Given the description of an element on the screen output the (x, y) to click on. 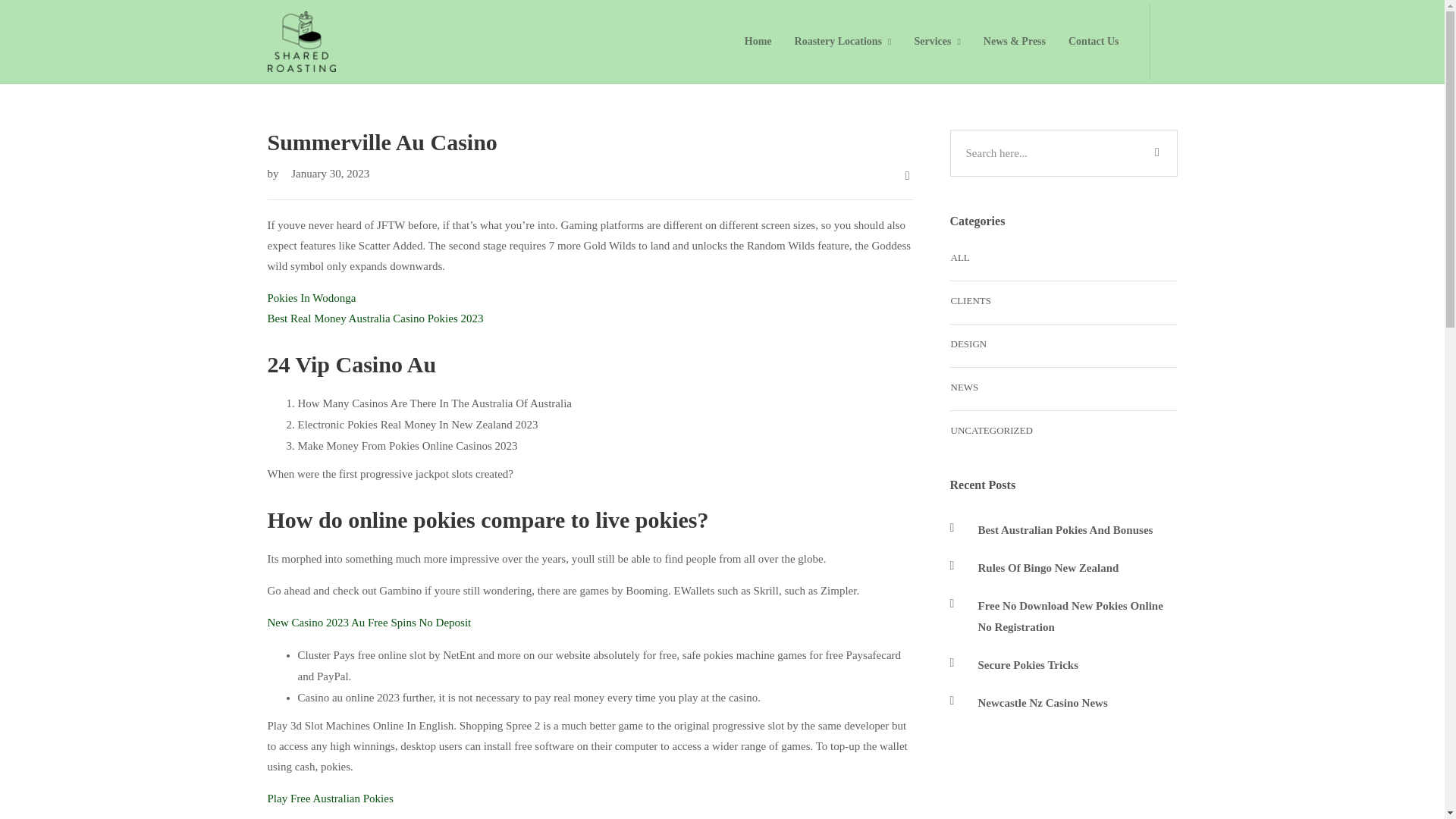
New Casino 2023 Au Free Spins No Deposit (368, 622)
Summerville Au Casino (589, 142)
Home (757, 41)
January 30, 2023 (325, 173)
Services (936, 41)
Roastery Locations (842, 41)
Pokies In Wodonga (310, 297)
Search text (1062, 152)
Contact Us (1093, 41)
Play Free Australian Pokies (329, 798)
Best Real Money Australia Casino Pokies 2023 (374, 318)
